Given the description of an element on the screen output the (x, y) to click on. 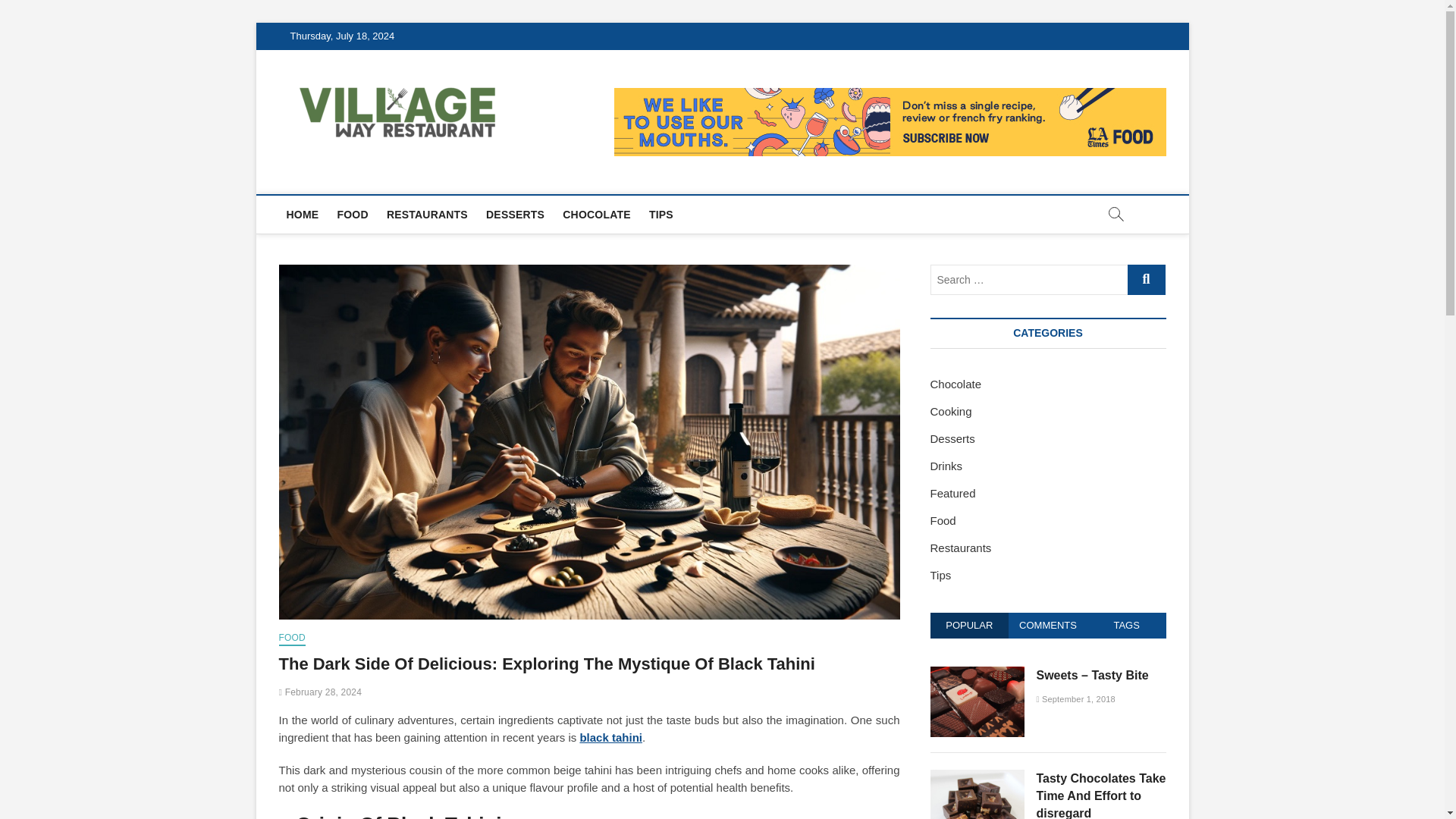
Food (942, 520)
Village Way Restaurant (647, 100)
Tasty Chocolates Take Time And Effort to disregard (1100, 795)
CHOCOLATE (595, 214)
Restaurants (960, 547)
FOOD (352, 214)
February 28, 2024 (320, 692)
RESTAURANTS (427, 214)
Cooking (950, 410)
Drinks (946, 465)
COMMENTS (1048, 625)
FOOD (292, 639)
TAGS (1126, 625)
Village Way Restaurant (647, 100)
